Given the description of an element on the screen output the (x, y) to click on. 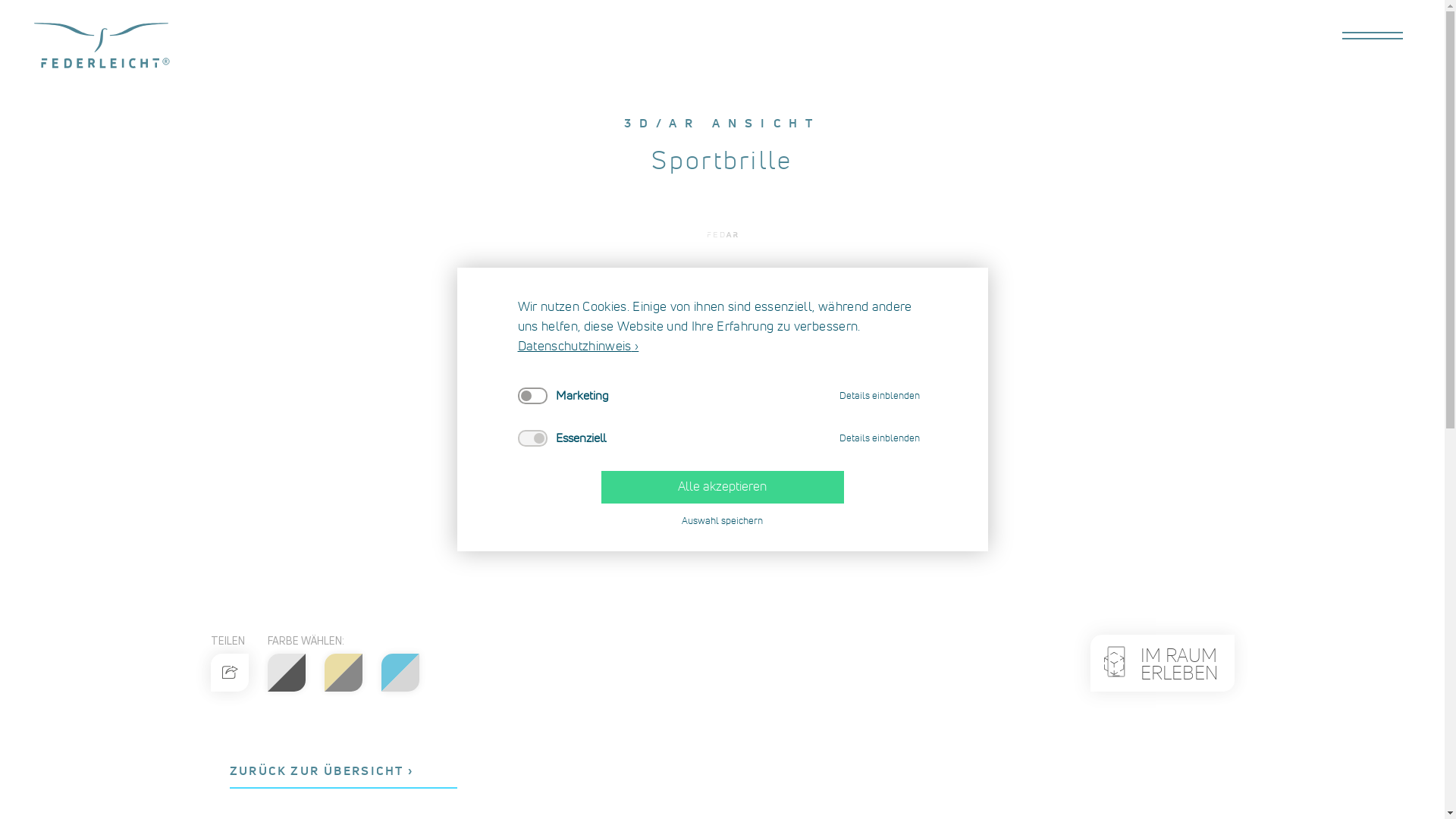
Auswahl speichern Element type: text (721, 521)
Alle akzeptieren Element type: text (721, 486)
Details einblenden Element type: text (878, 396)
Datenschutzhinweis Element type: text (577, 346)
Details einblenden Element type: text (878, 438)
